Given the description of an element on the screen output the (x, y) to click on. 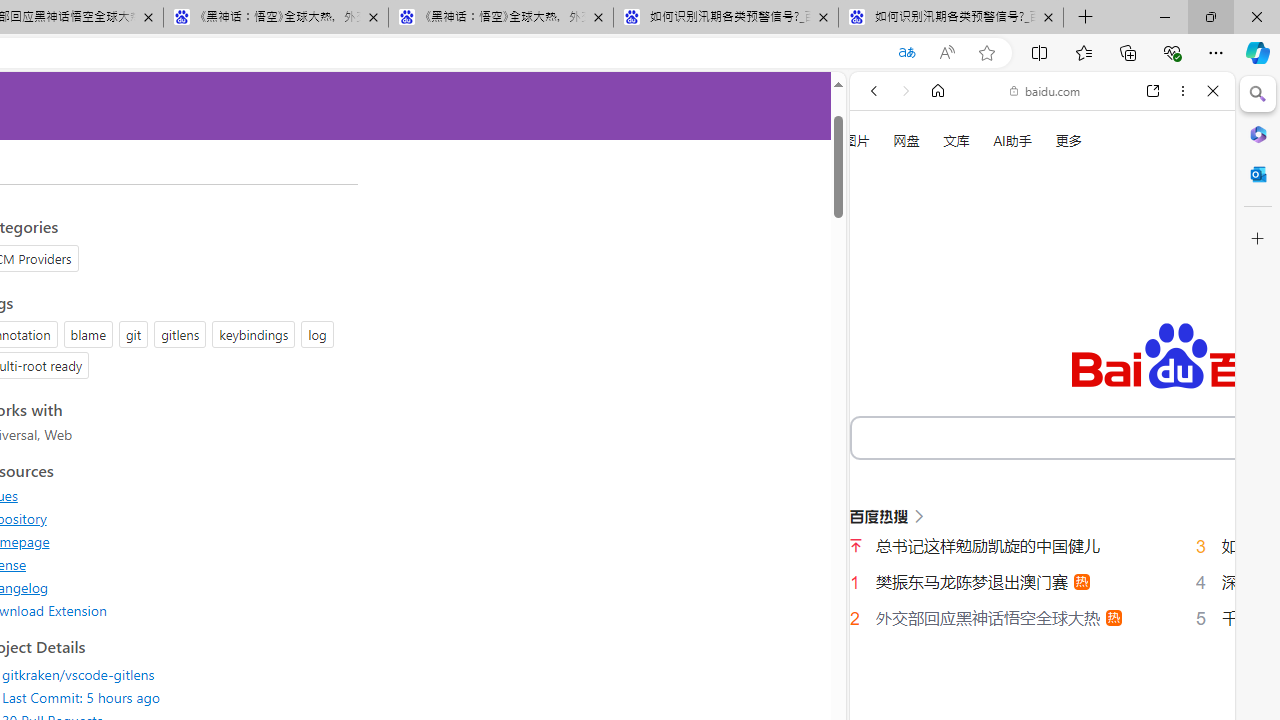
English (US) (1042, 579)
